Given the description of an element on the screen output the (x, y) to click on. 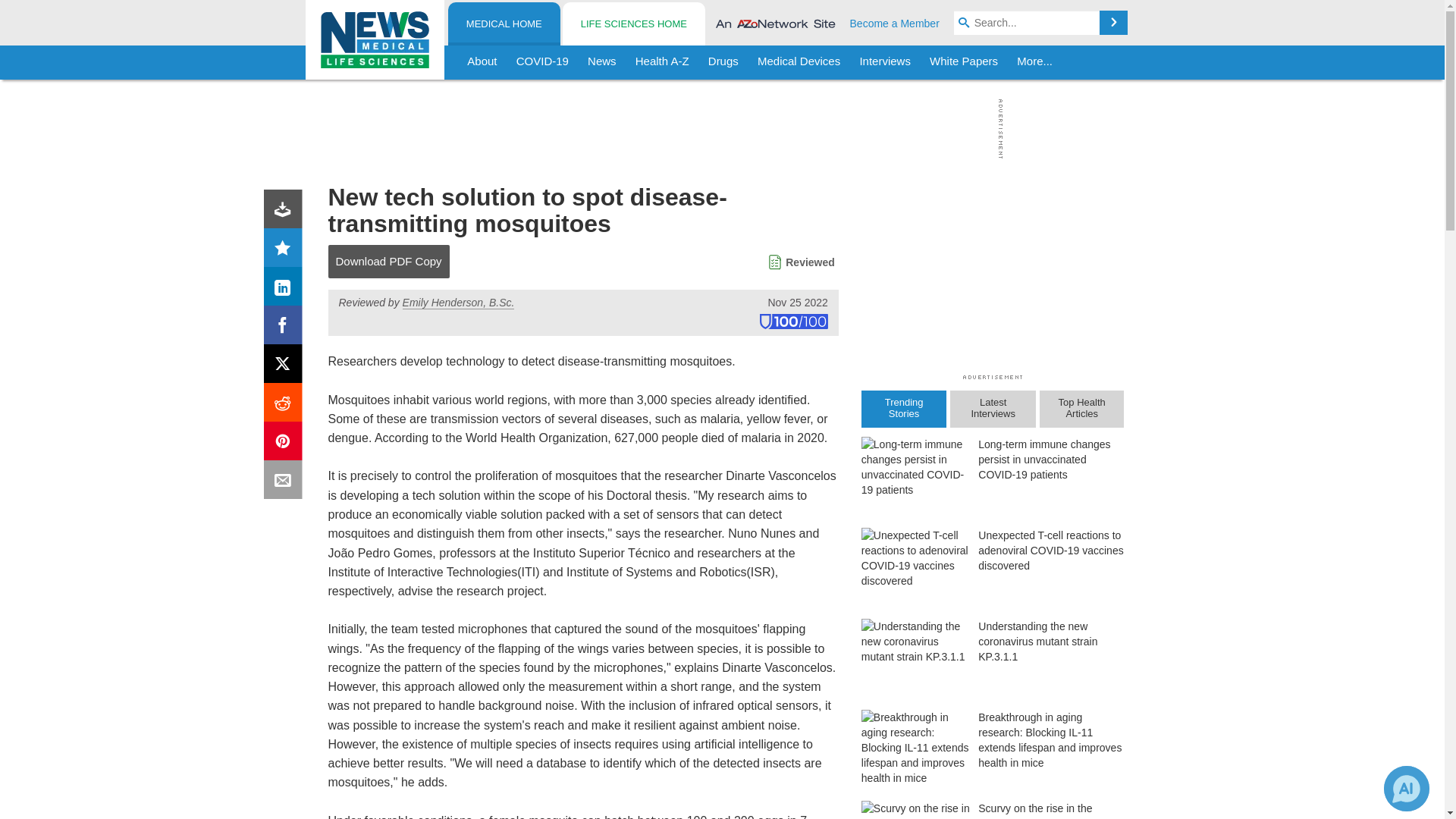
Become a Member (894, 22)
LinkedIn (285, 289)
Search (1112, 22)
About (482, 62)
Health A-Z (662, 62)
White Papers (963, 62)
Rating (285, 250)
COVID-19 (542, 62)
Drugs (722, 62)
Email (285, 483)
X (285, 366)
More... (1035, 62)
MEDICAL HOME (504, 23)
Facebook (285, 328)
